Given the description of an element on the screen output the (x, y) to click on. 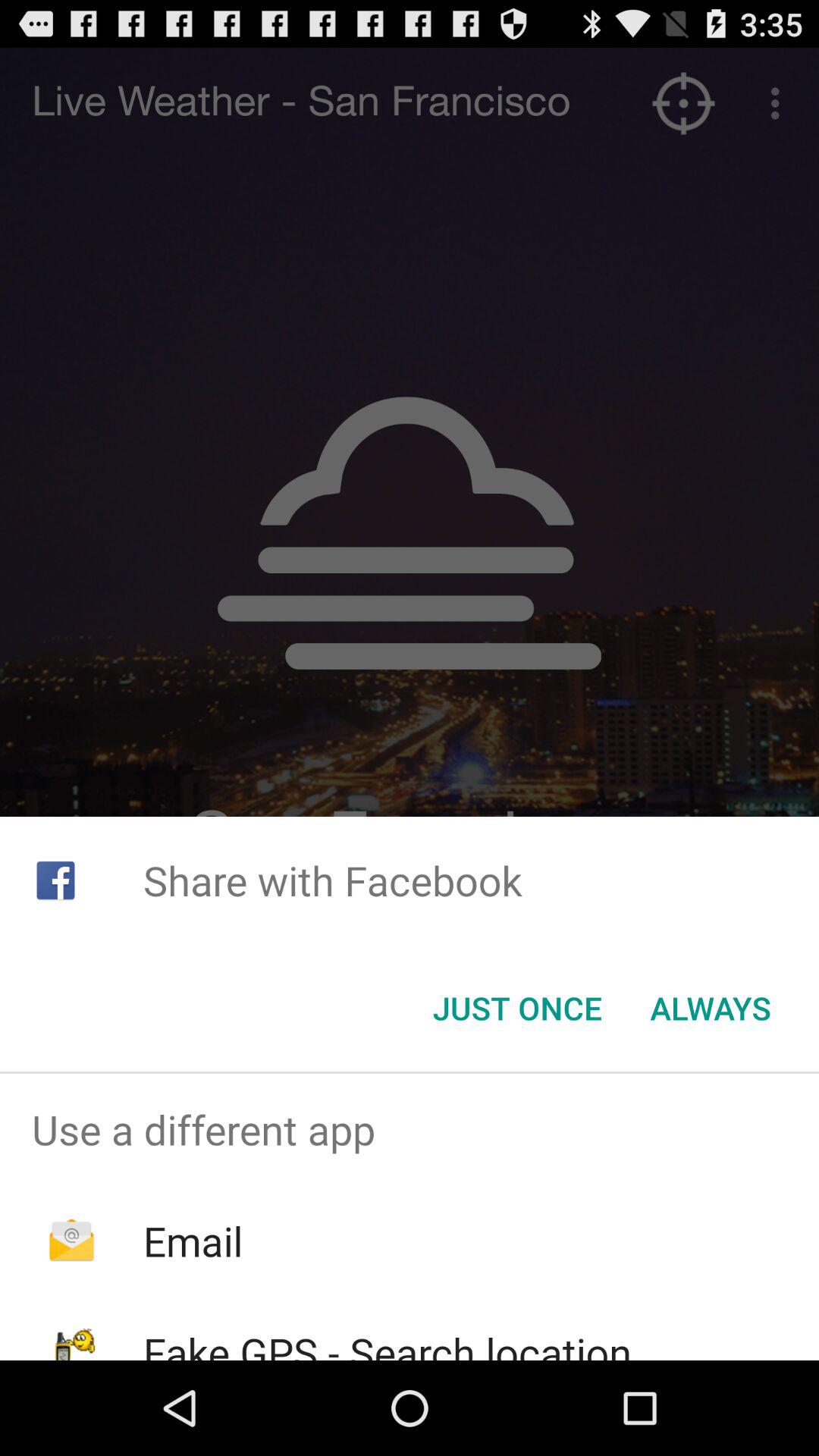
press the fake gps search icon (387, 1342)
